Given the description of an element on the screen output the (x, y) to click on. 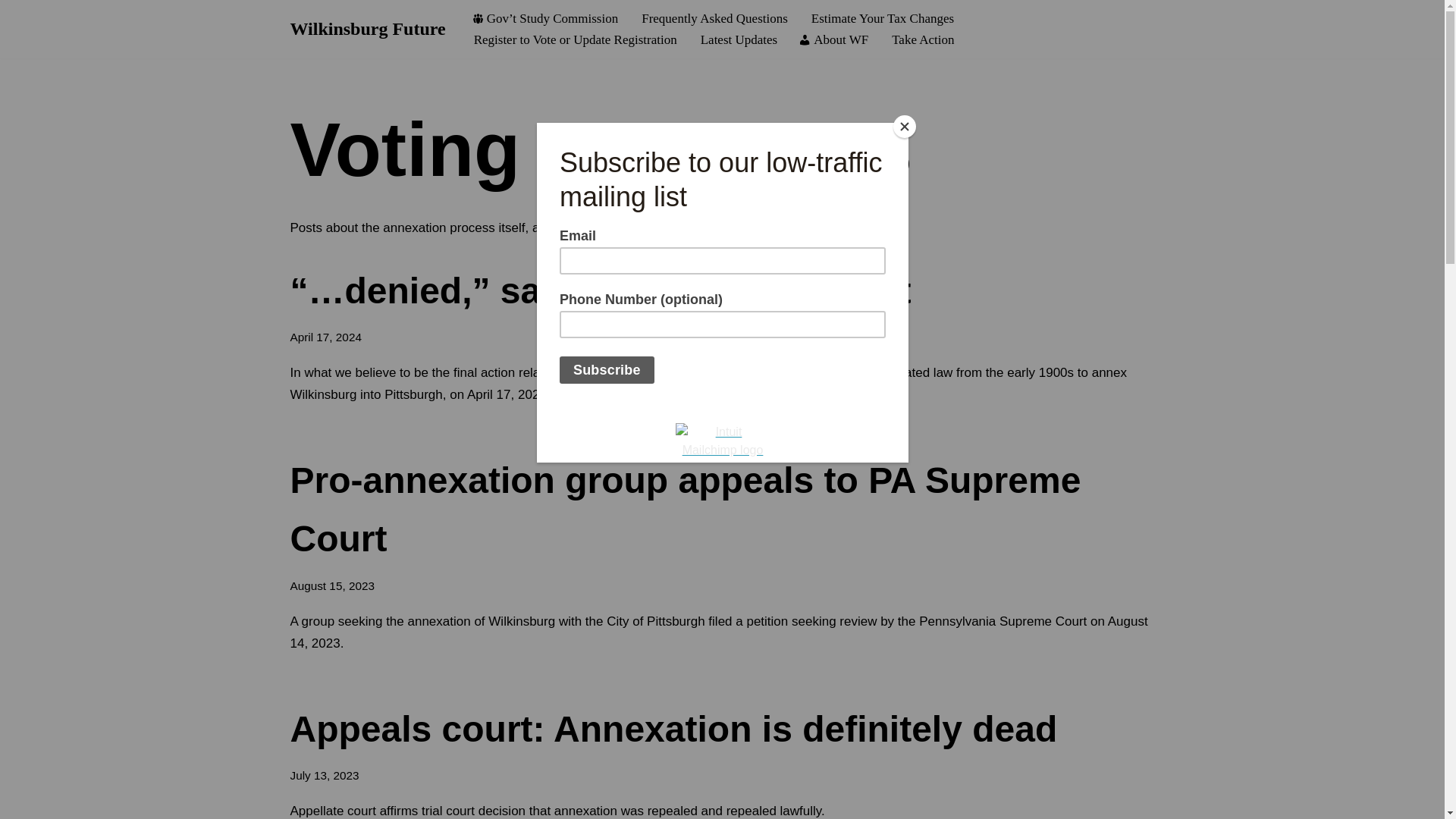
Register to Vote or Update Registration (574, 38)
Pro-annexation group appeals to PA Supreme Court (684, 509)
Wilkinsburg Future (367, 29)
Take Action (921, 38)
Estimate Your Tax Changes (881, 17)
Appeals court: Annexation is definitely dead (673, 729)
Latest Updates (737, 38)
Skip to content (11, 31)
About WF (832, 38)
Frequently Asked Questions (713, 17)
